Given the description of an element on the screen output the (x, y) to click on. 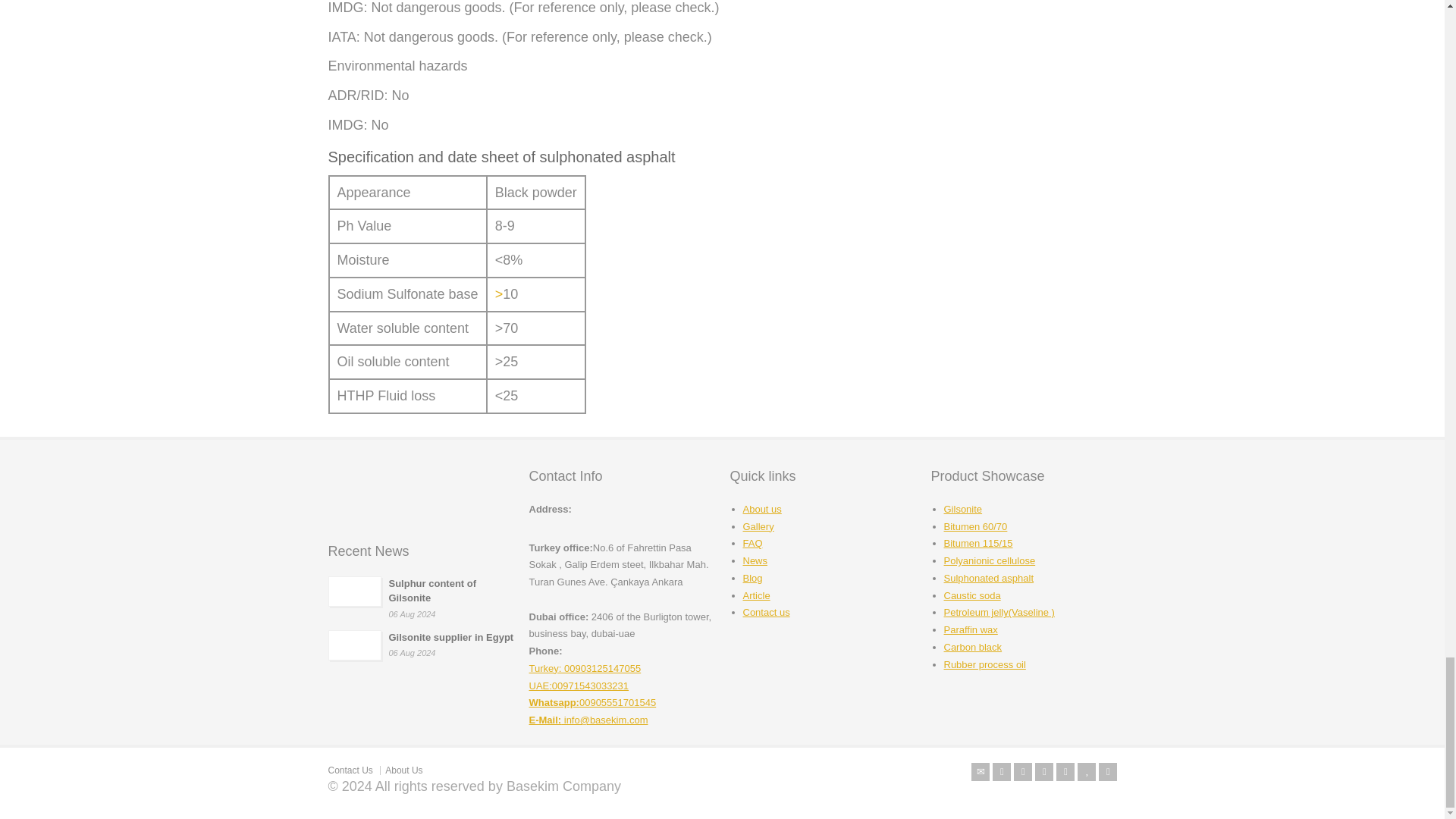
Email Address (588, 719)
Email (979, 771)
X (1000, 771)
